Given the description of an element on the screen output the (x, y) to click on. 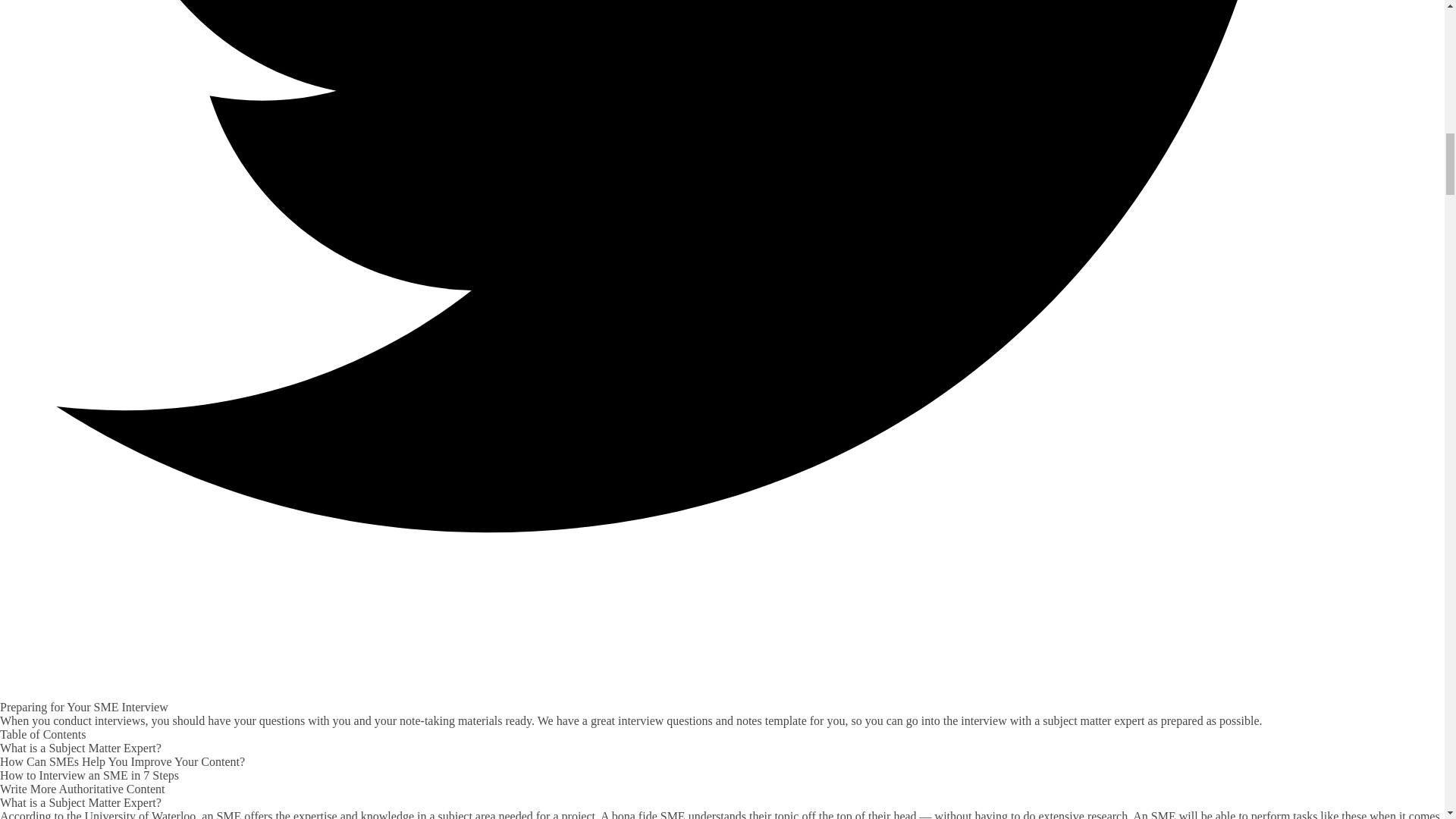
How to Interview an SME in 7 Steps (89, 775)
What is a Subject Matter Expert? (80, 748)
the University of Waterloo (130, 814)
How Can SMEs Help You Improve Your Content? (122, 761)
Write More Authoritative Content (82, 788)
